Given the description of an element on the screen output the (x, y) to click on. 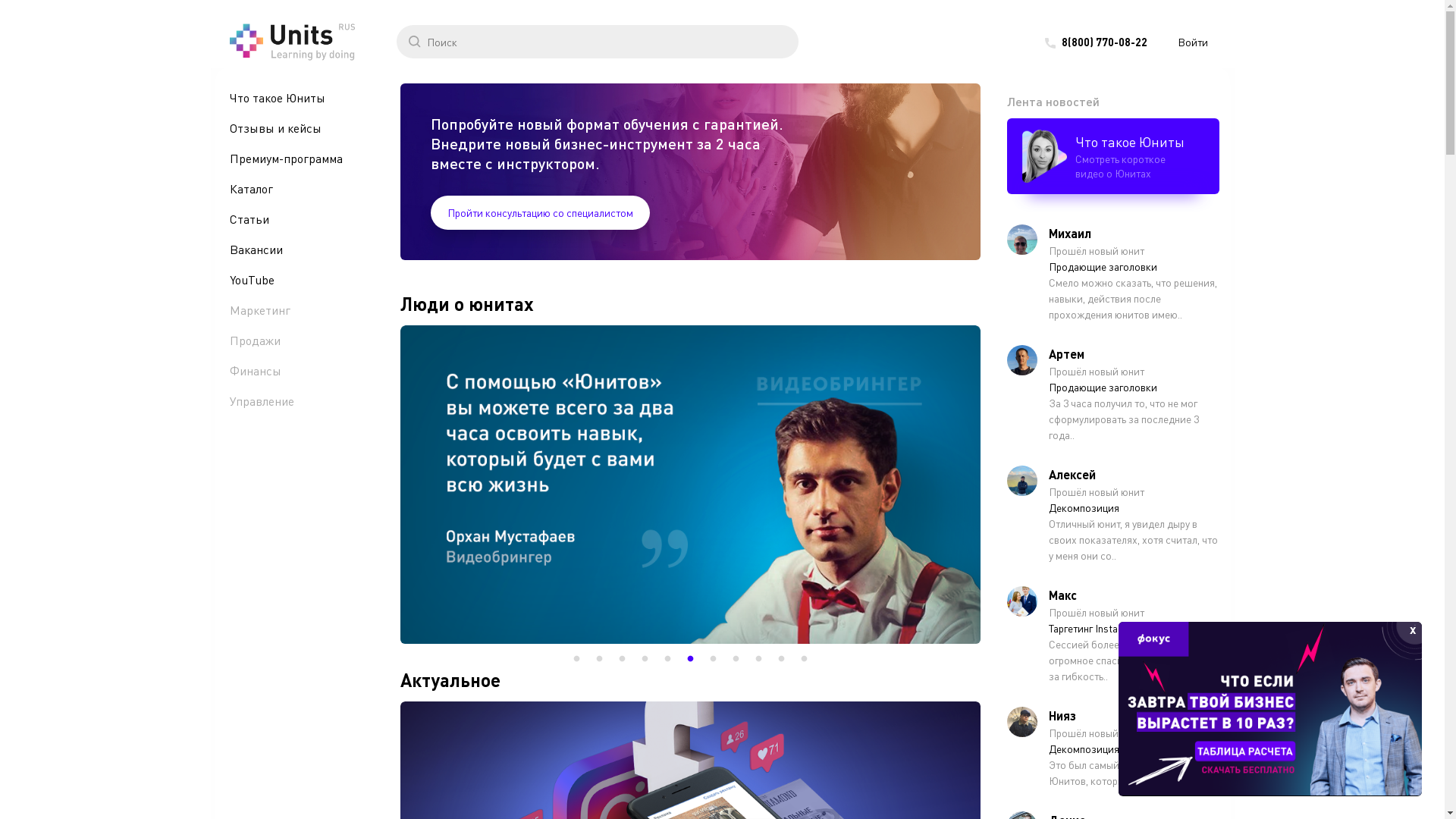
7 Element type: text (712, 658)
10 Element type: text (780, 658)
8 Element type: text (735, 658)
2 Element type: text (598, 658)
3 Element type: text (621, 658)
11 Element type: text (803, 658)
YouTube Element type: text (288, 279)
6 Element type: text (689, 658)
8(800) 770-08-22 Element type: text (1104, 40)
1 Element type: text (575, 658)
5 Element type: text (666, 658)
9 Element type: text (757, 658)
x Element type: text (1412, 630)
4 Element type: text (644, 658)
